Given the description of an element on the screen output the (x, y) to click on. 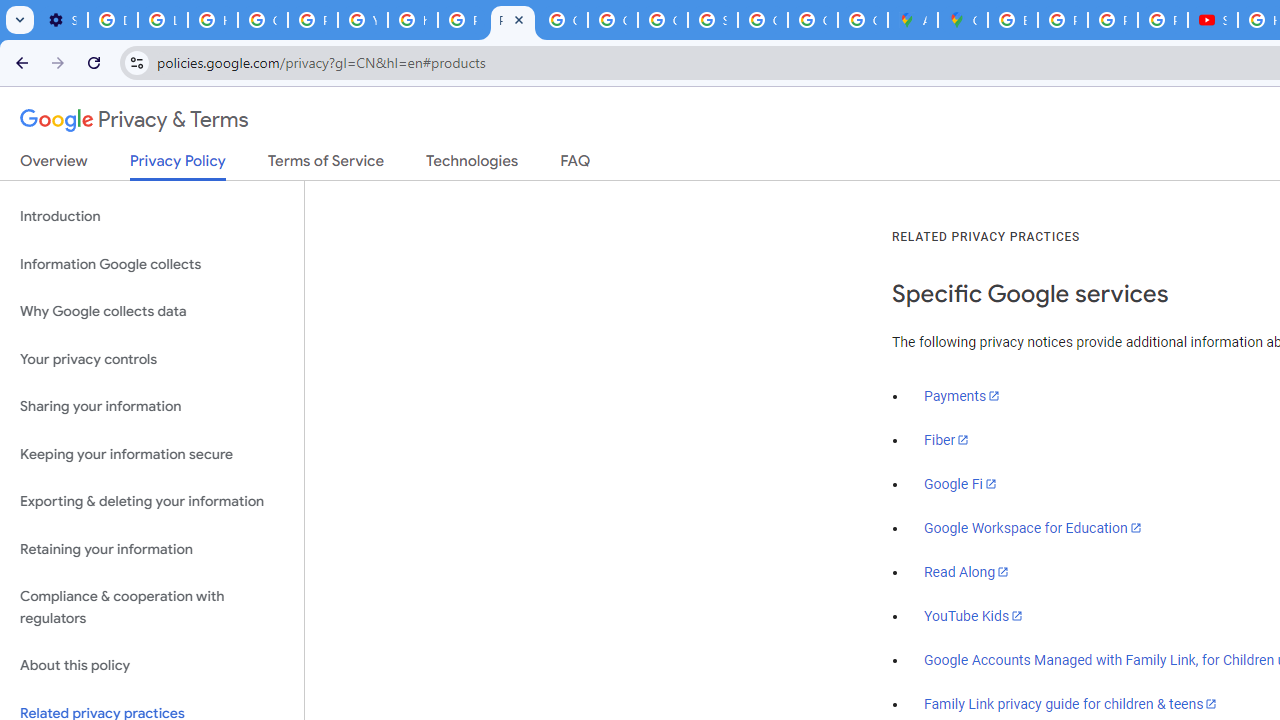
Privacy Help Center - Policies Help (1062, 20)
Payments (962, 395)
Family Link privacy guide for children & teens (1071, 703)
Google Workspace for Education (1032, 528)
Sign in - Google Accounts (712, 20)
